Given the description of an element on the screen output the (x, y) to click on. 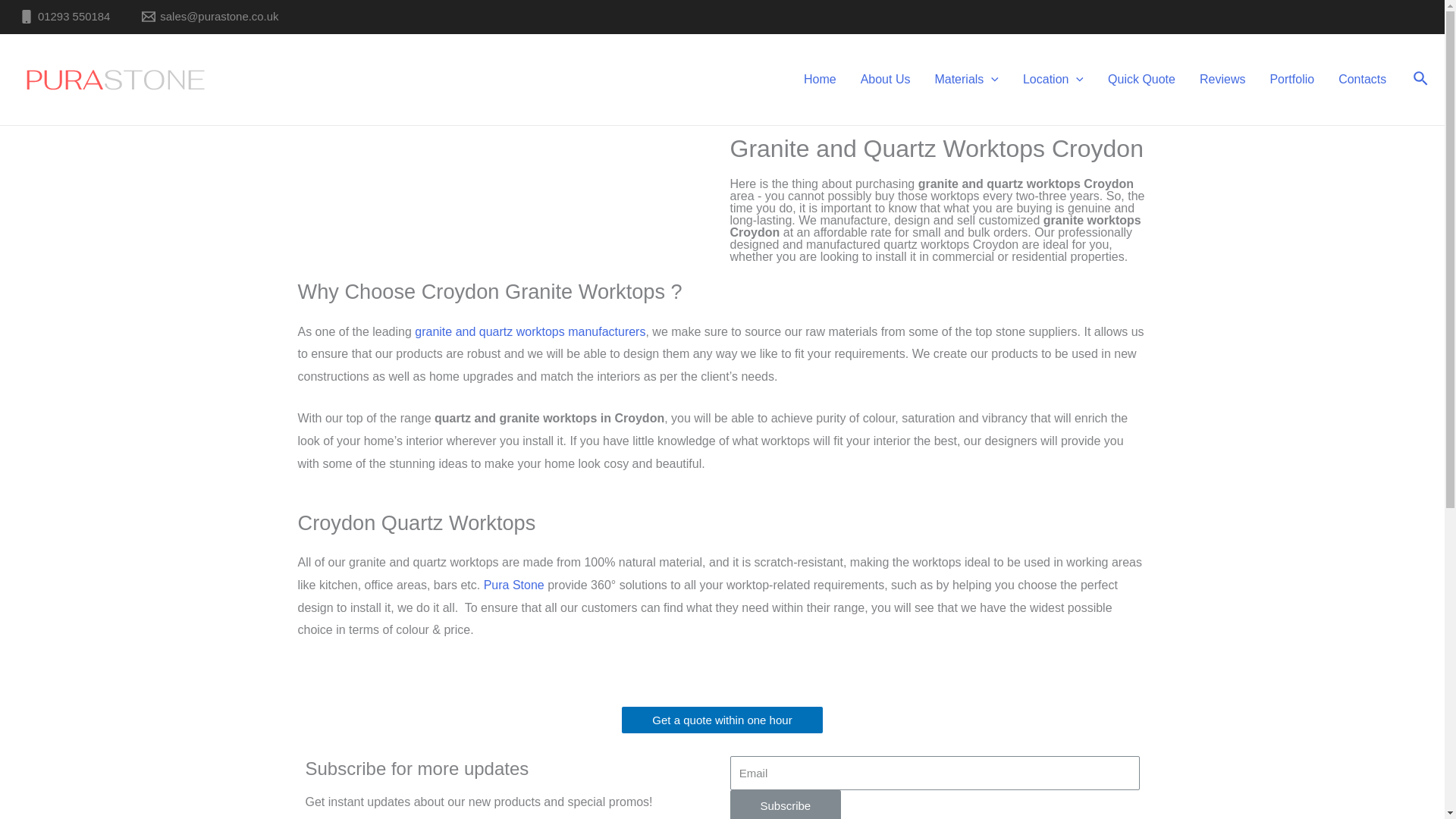
Contacts (1361, 79)
Location (1053, 79)
Materials (965, 79)
Home (820, 79)
Reviews (1222, 79)
Quick Quote (1142, 79)
About Us (885, 79)
01293 550184 (64, 17)
Portfolio (1291, 79)
